Given the description of an element on the screen output the (x, y) to click on. 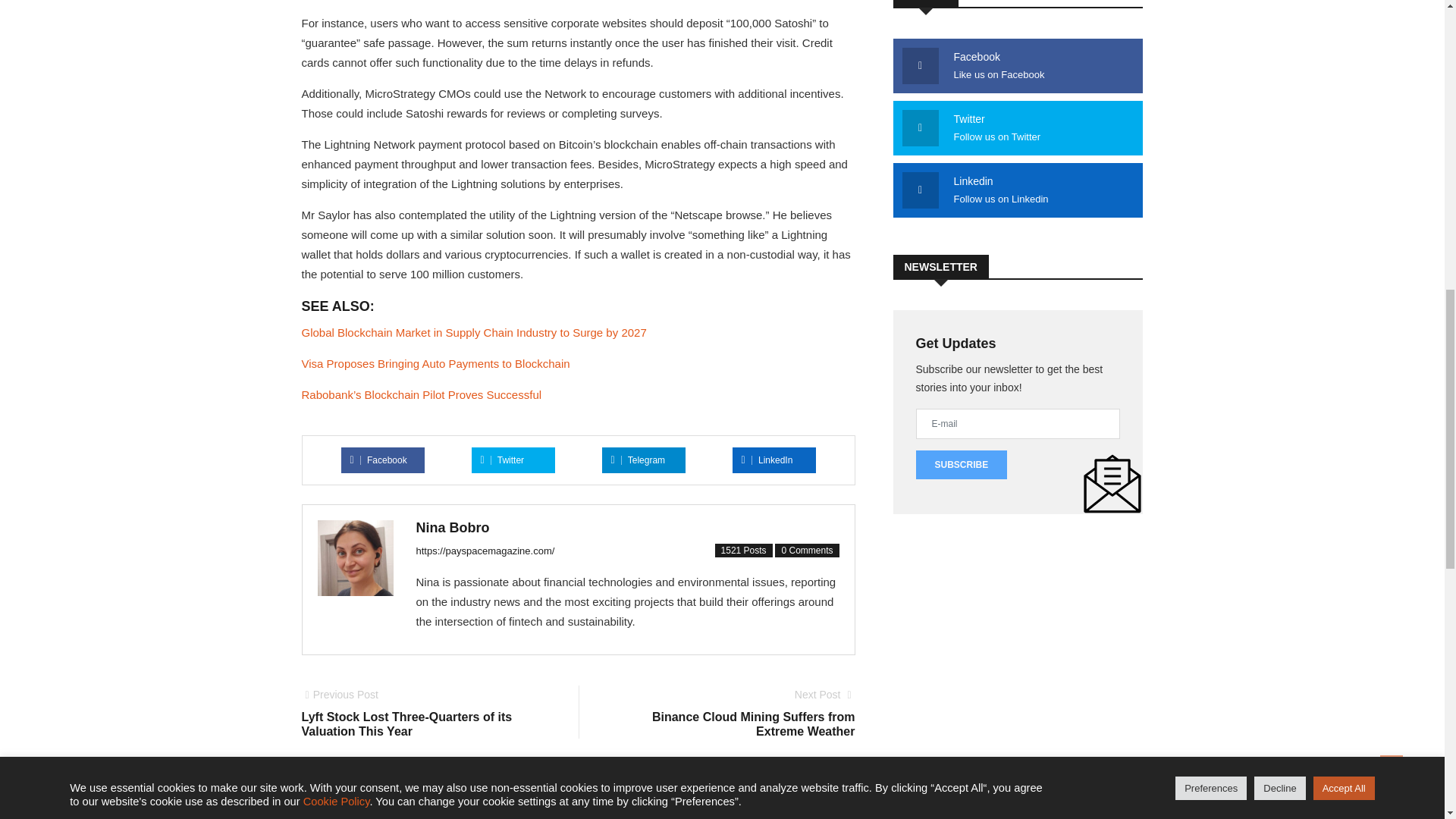
Visa Proposes Bringing Auto Payments to Blockchain (733, 713)
Twitter (435, 363)
Facebook (502, 460)
Telegram (378, 460)
LinkedIn (638, 460)
